Given the description of an element on the screen output the (x, y) to click on. 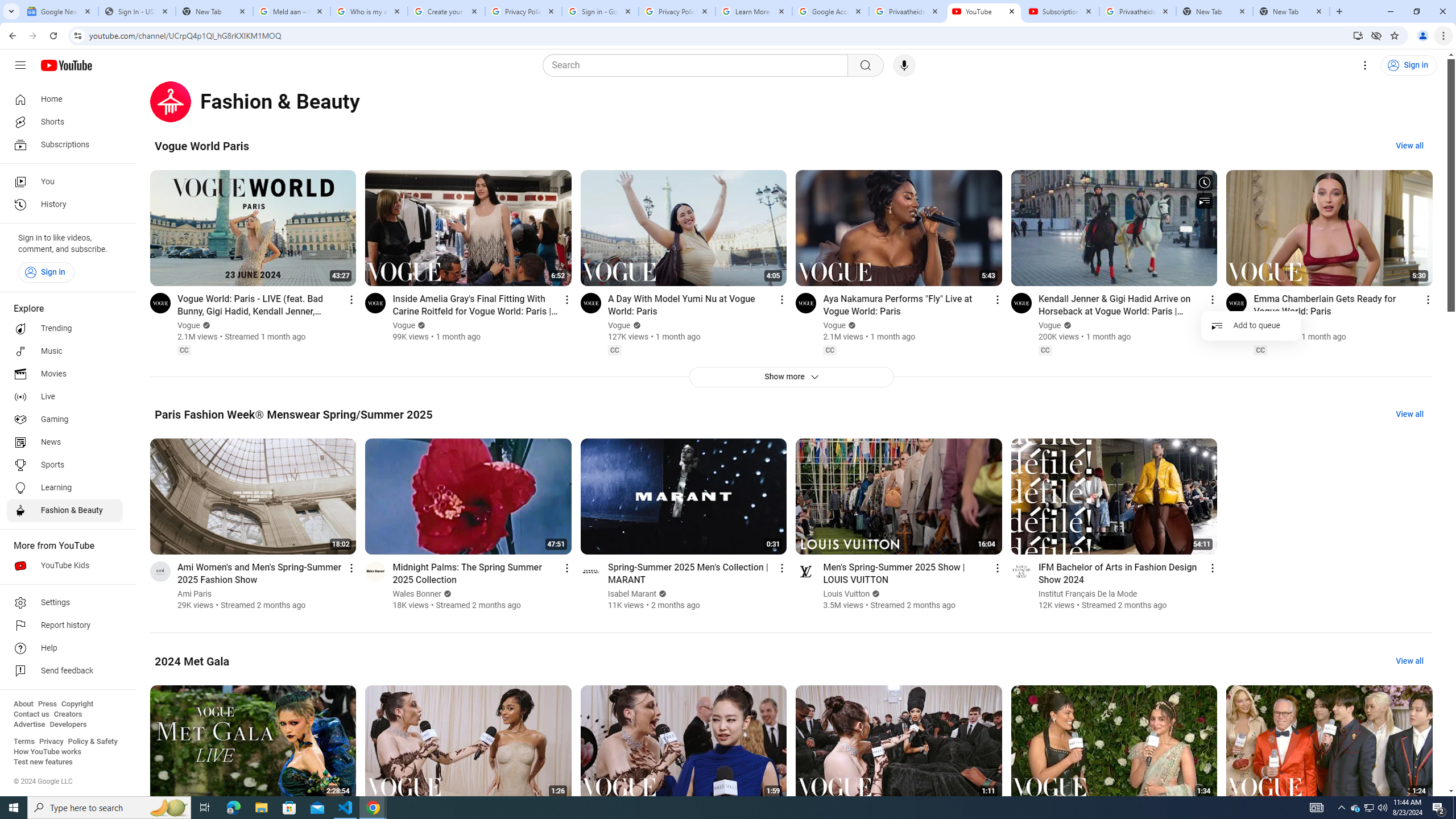
Fashion & Beauty (64, 510)
Guide (20, 65)
Home (64, 99)
Test new features (42, 761)
Report history (64, 625)
Vogue (1264, 325)
YouTube Kids (64, 565)
